Given the description of an element on the screen output the (x, y) to click on. 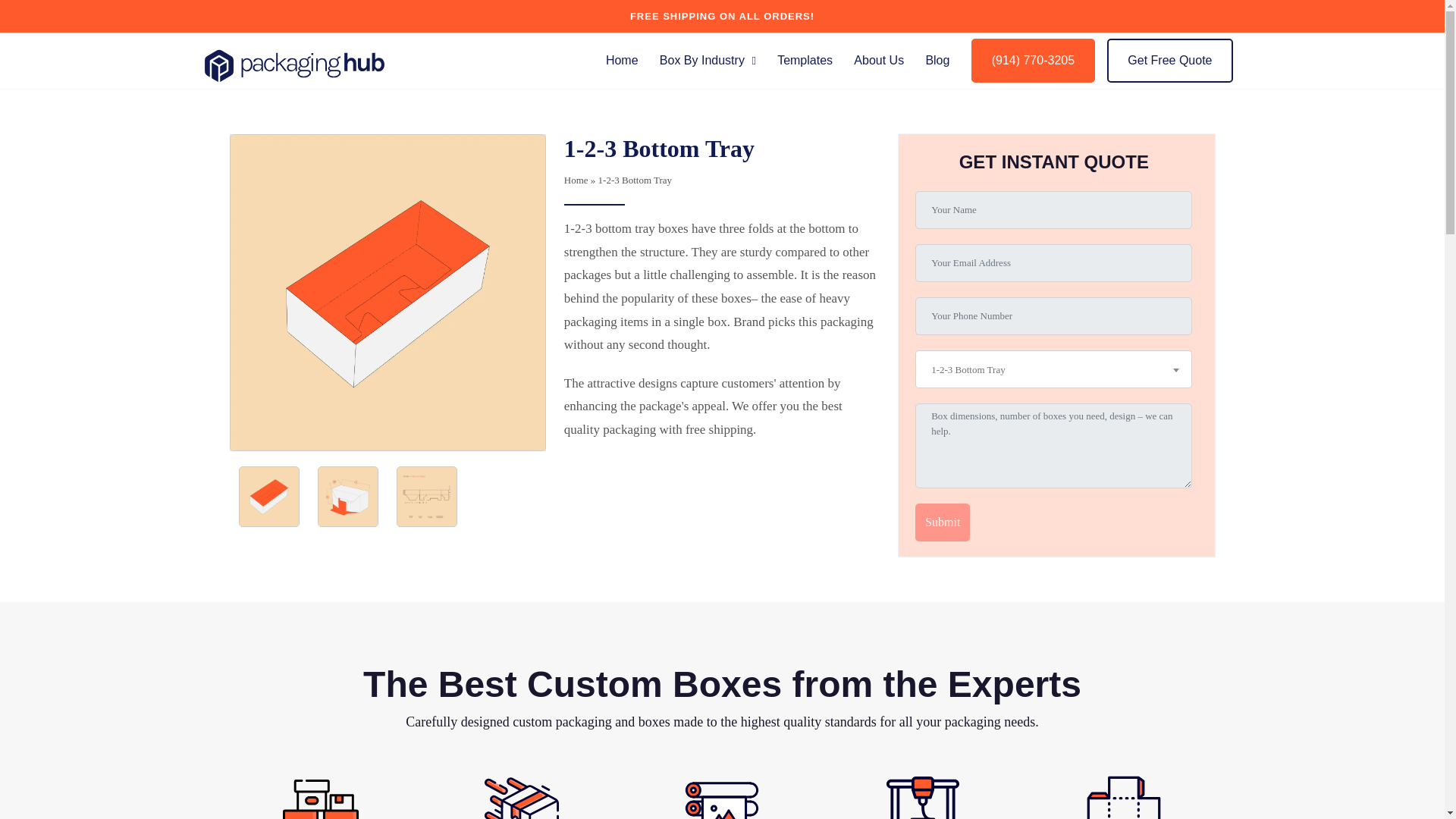
About Us (878, 60)
1-2-3 Bottom Tray (1053, 370)
Get Free Quote (1168, 60)
Submit (942, 522)
Box By Industry (707, 60)
Home (622, 60)
Templates (804, 60)
